Given the description of an element on the screen output the (x, y) to click on. 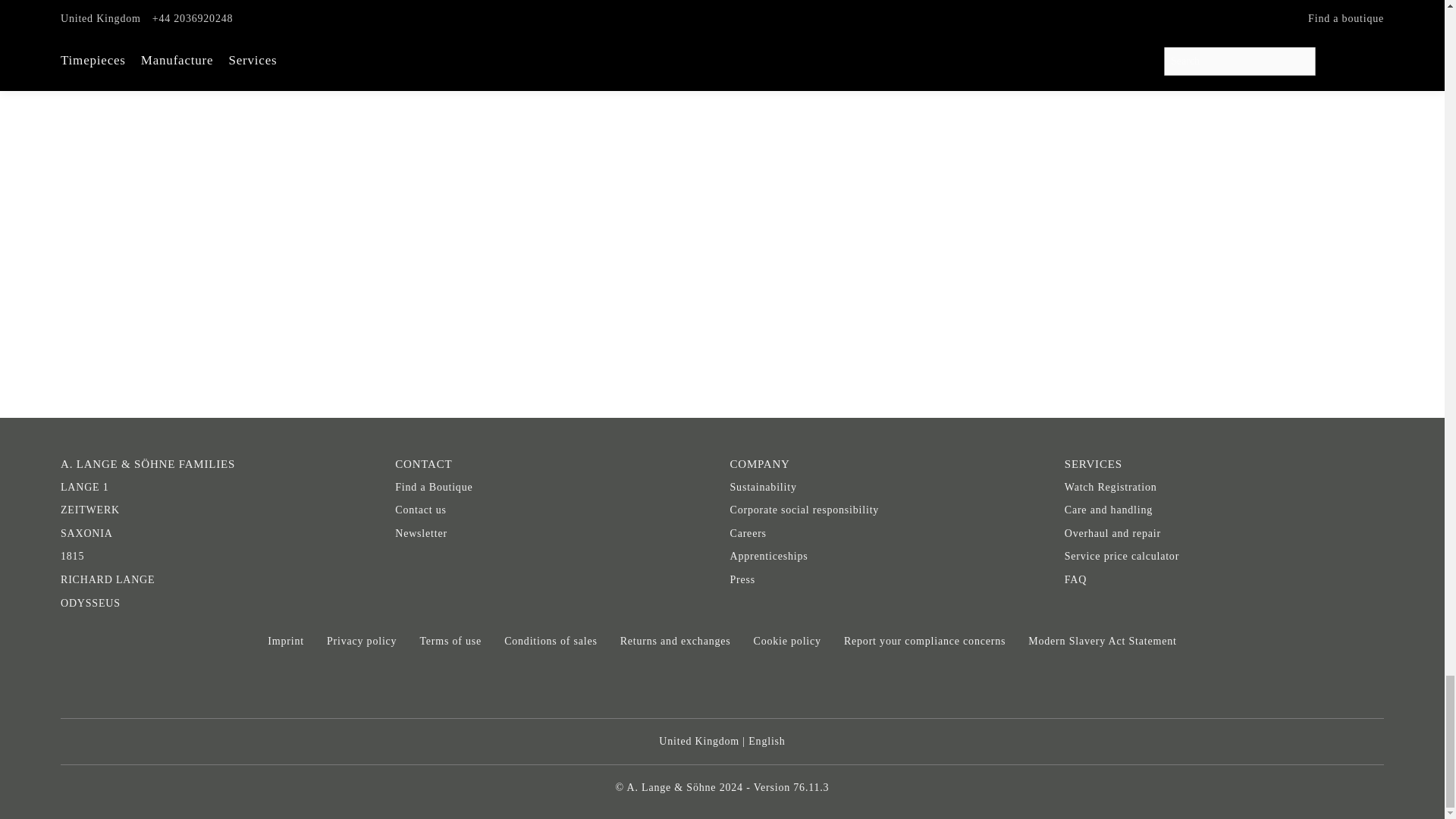
Linkedin (668, 687)
Select your location (722, 741)
Facebook (614, 687)
YouTube (775, 687)
Instagram (721, 687)
Weibo (827, 687)
